Given the description of an element on the screen output the (x, y) to click on. 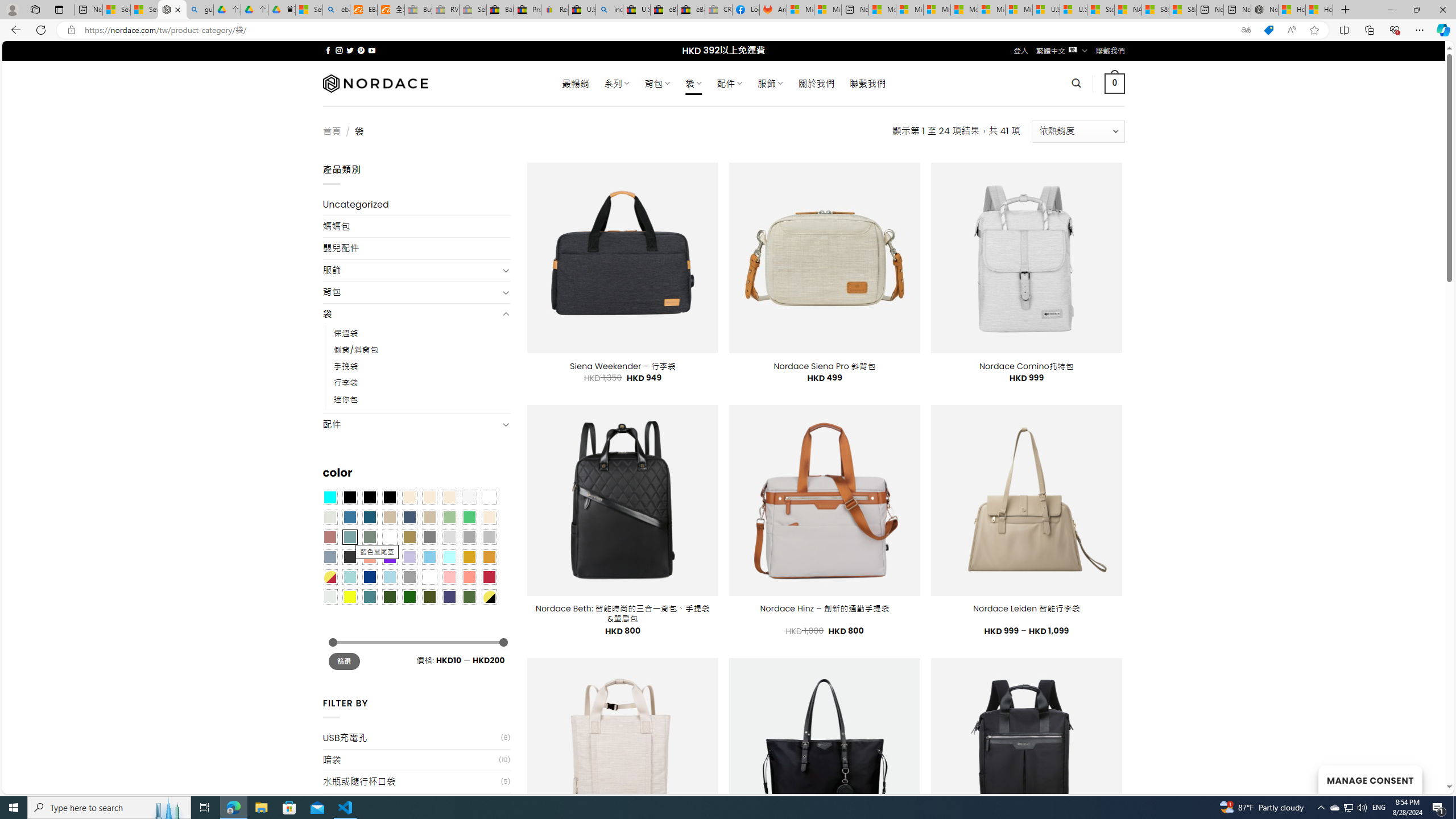
MANAGE CONSENT (1369, 779)
Copilot (Ctrl+Shift+.) (1442, 29)
